Given the description of an element on the screen output the (x, y) to click on. 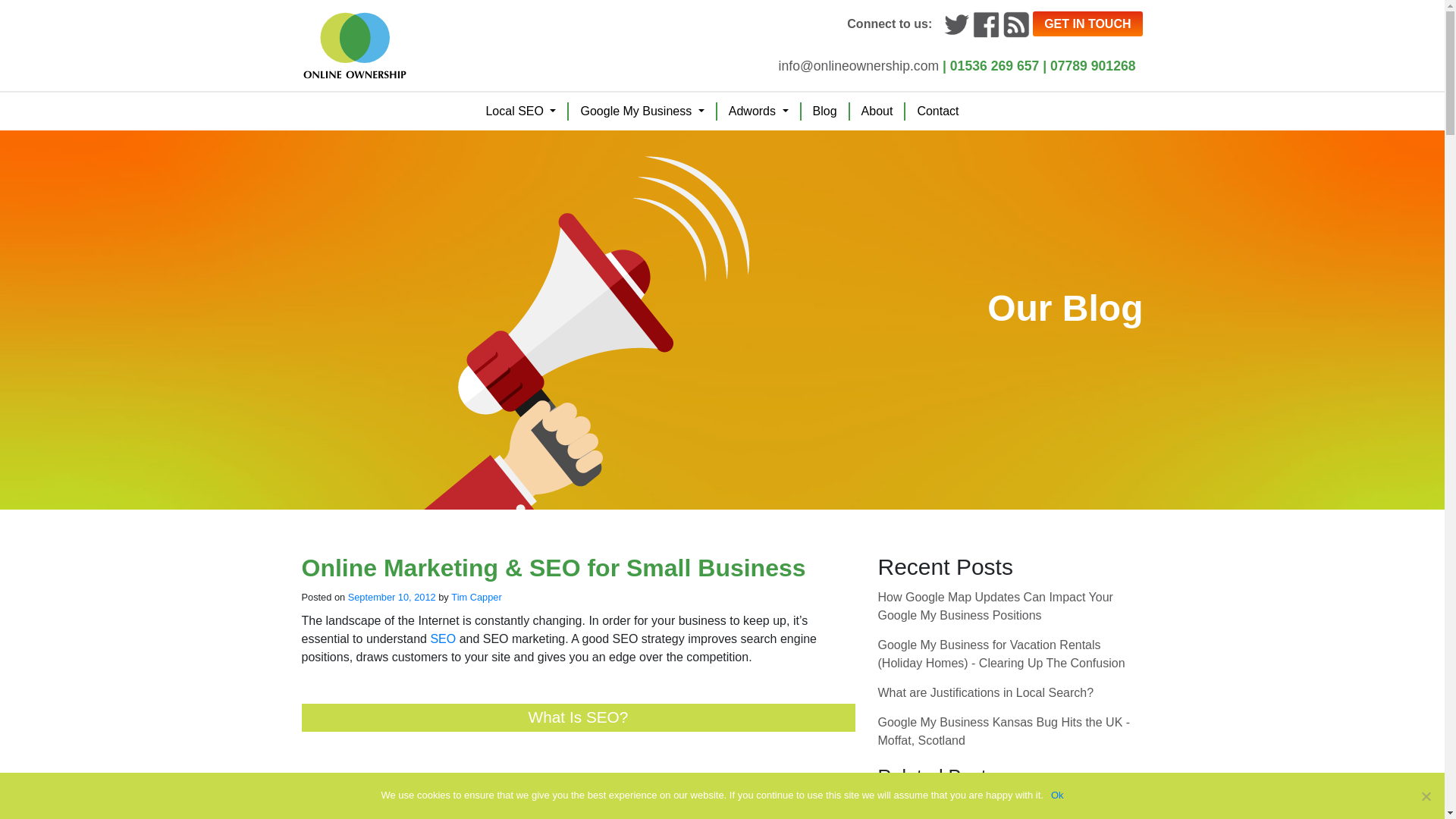
SEO (442, 638)
Blog (824, 110)
Blog (824, 110)
GET IN TOUCH (1086, 23)
Local SEO (520, 110)
About (877, 110)
Local SEO (520, 110)
Contact (937, 110)
Google My Business (641, 110)
About (877, 110)
September 10, 2012 (391, 597)
Google My Business (641, 110)
Adwords (759, 110)
Tim Capper (475, 597)
Adwords (759, 110)
